Given the description of an element on the screen output the (x, y) to click on. 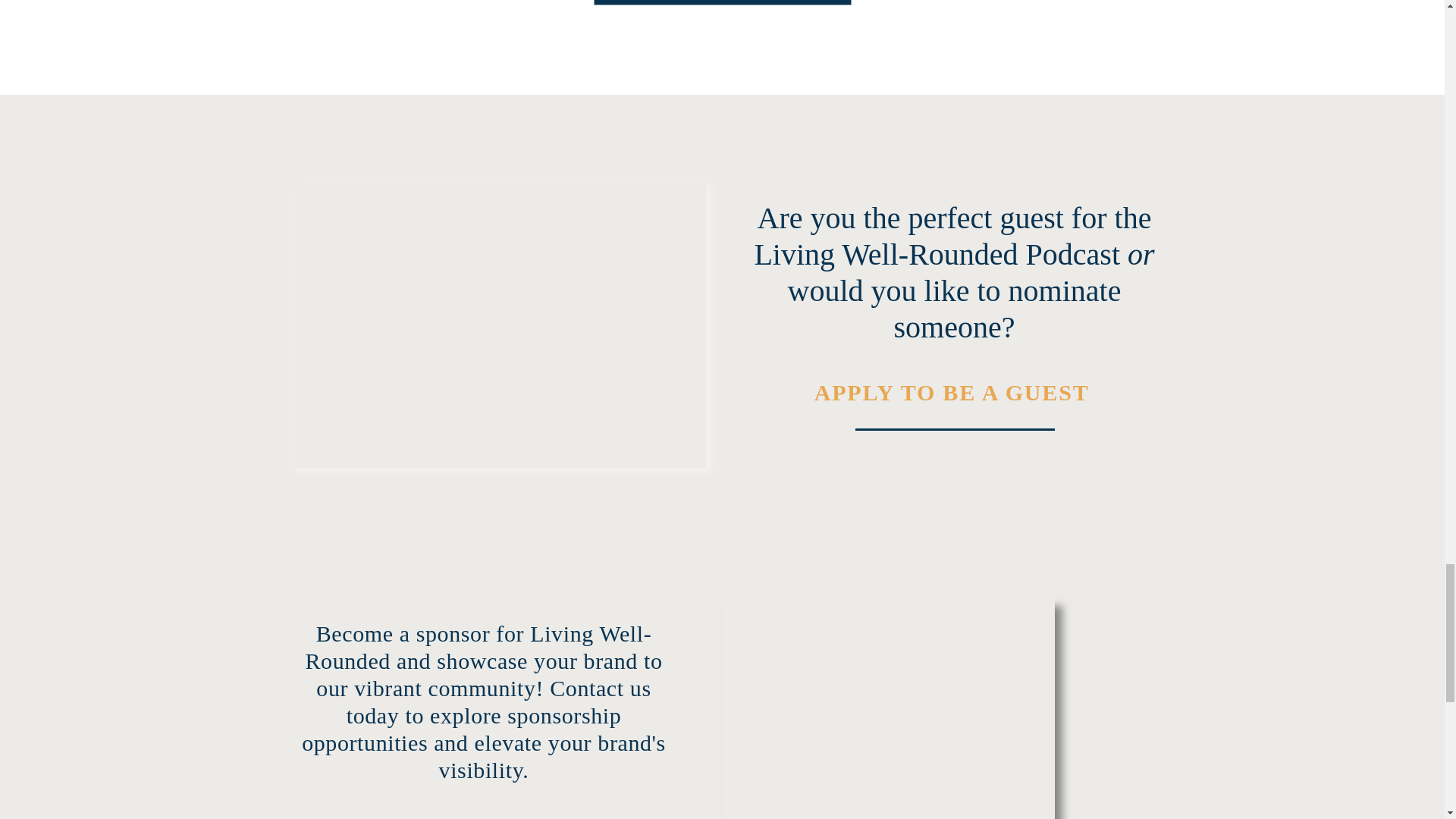
APPLY TO BE A SPONSOR (482, 817)
APPLY TO BE A GUEST  (954, 392)
